Given the description of an element on the screen output the (x, y) to click on. 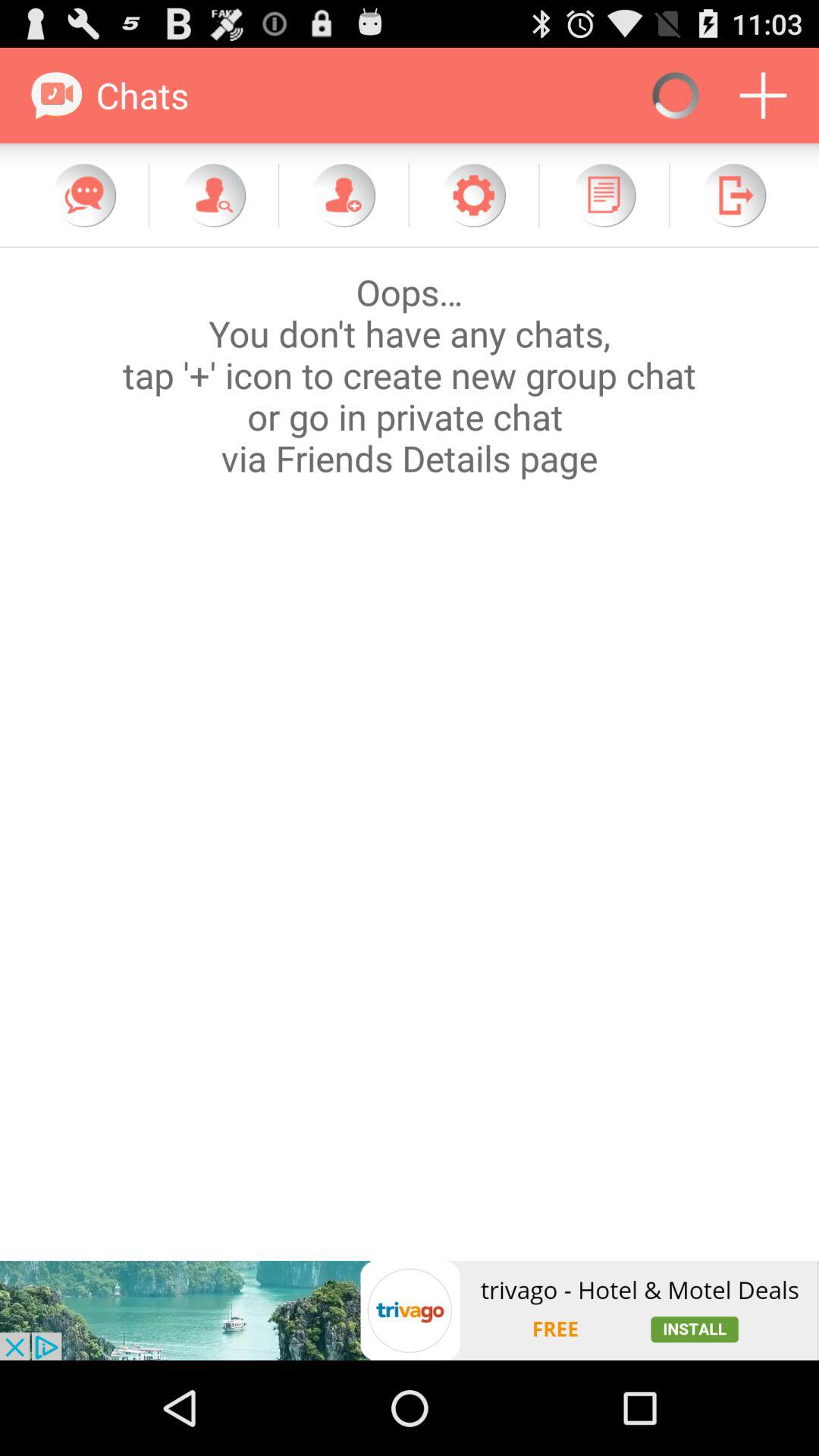
go to contact option (213, 194)
